Given the description of an element on the screen output the (x, y) to click on. 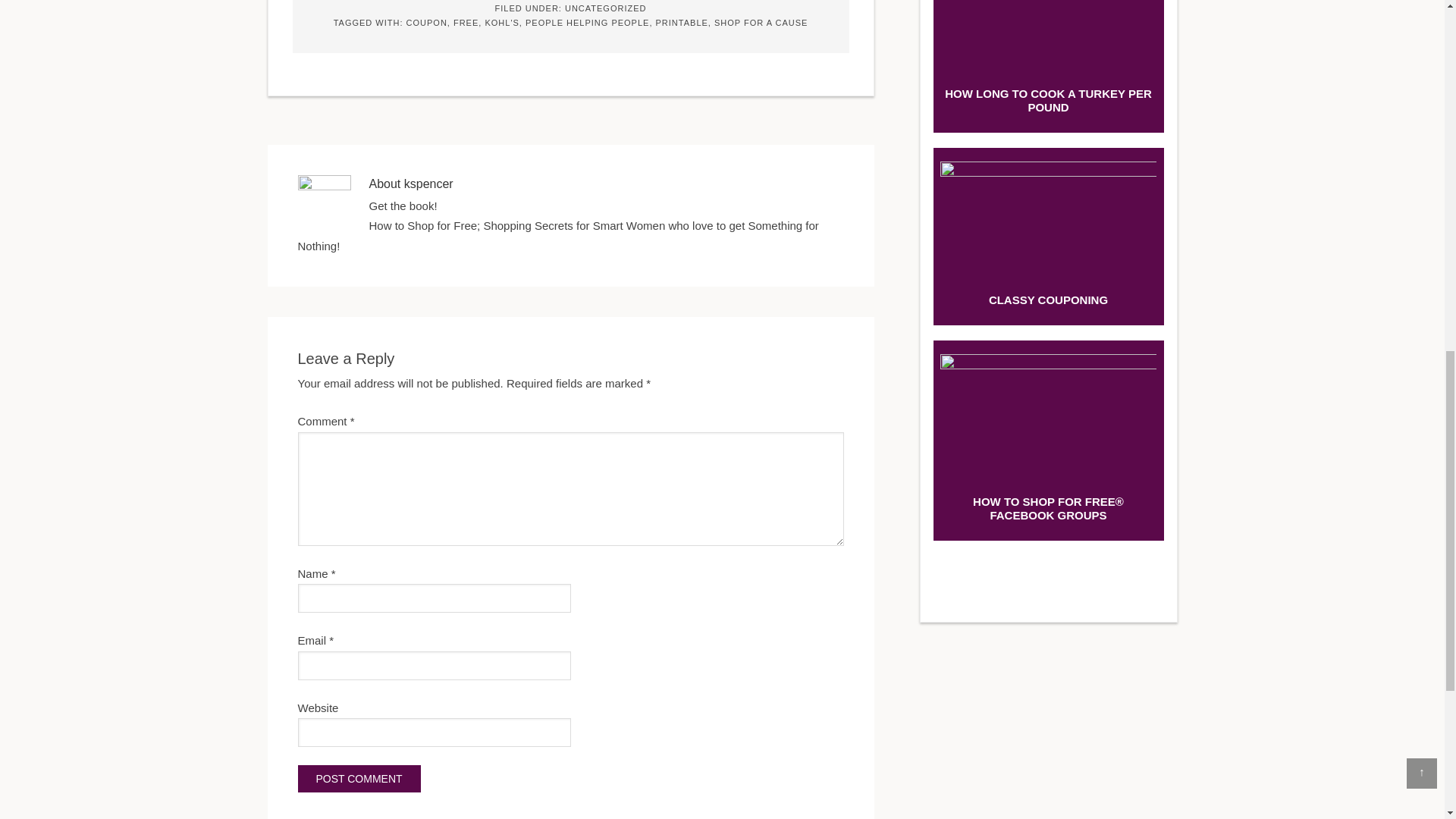
Post Comment (358, 778)
